Given the description of an element on the screen output the (x, y) to click on. 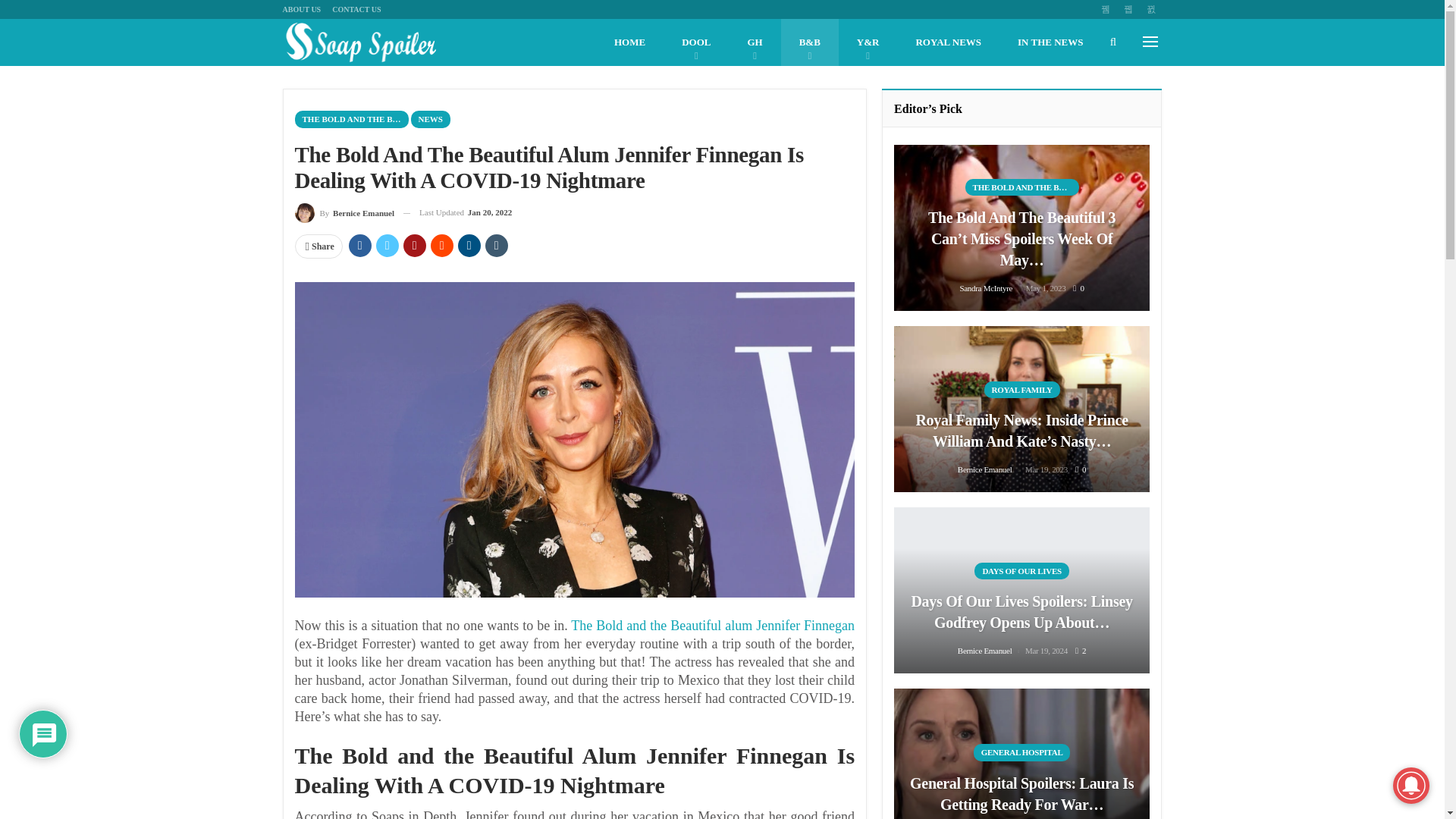
GH (754, 42)
DOOL (696, 42)
Browse Author Articles (344, 212)
ABOUT US (301, 8)
HOME (629, 42)
CONTACT US (355, 8)
